Given the description of an element on the screen output the (x, y) to click on. 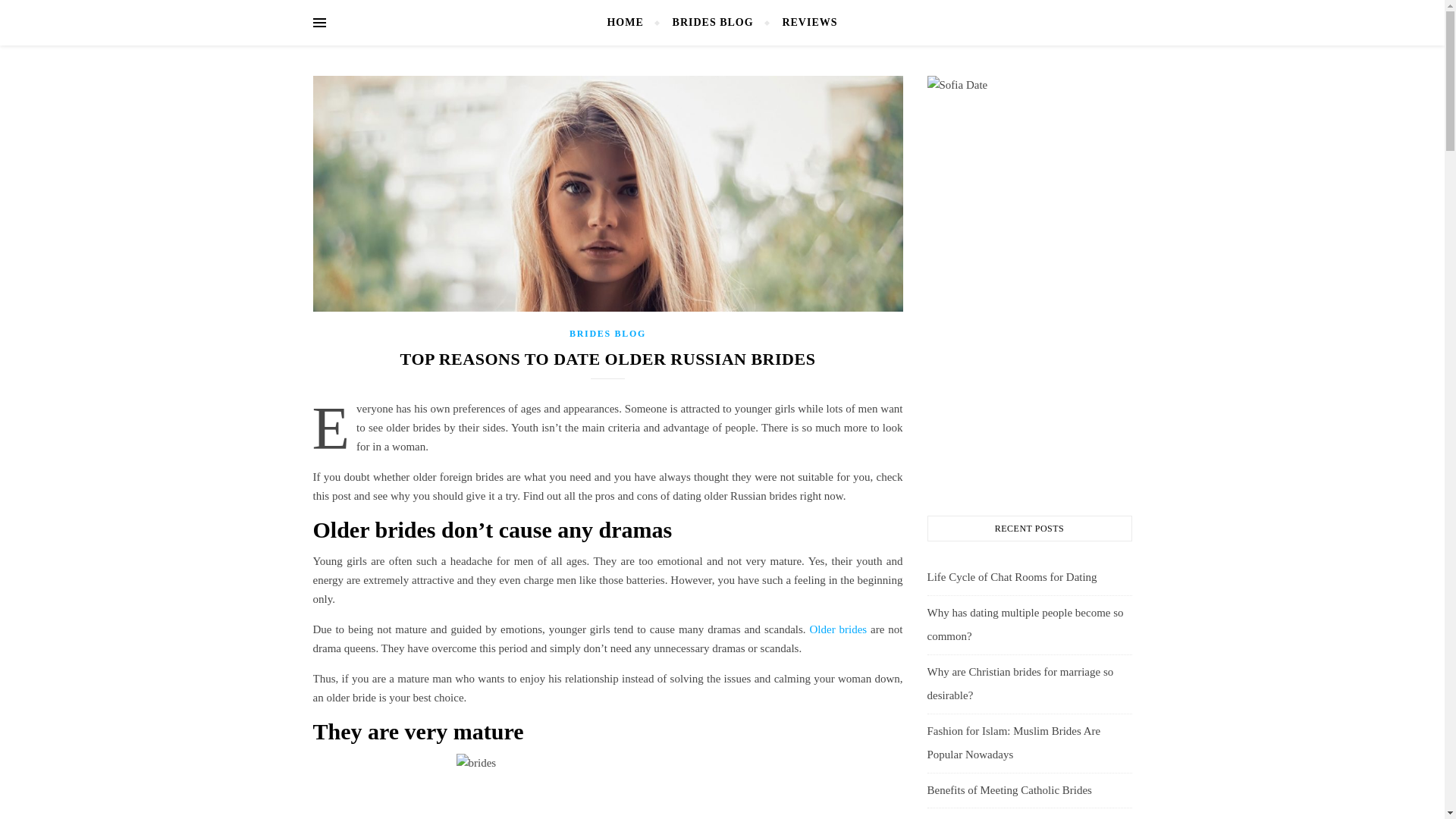
BRIDES BLOG (607, 333)
Older brides (837, 629)
Benefits of Meeting Catholic Brides (1008, 789)
BRIDES BLOG (713, 22)
Why has dating multiple people become so common? (1024, 624)
Why are Christian brides for marriage so desirable? (1019, 683)
HOME (631, 22)
Life Cycle of Chat Rooms for Dating (1011, 576)
REVIEWS (802, 22)
Fashion for Islam: Muslim Brides Are Popular Nowadays (1013, 742)
